Given the description of an element on the screen output the (x, y) to click on. 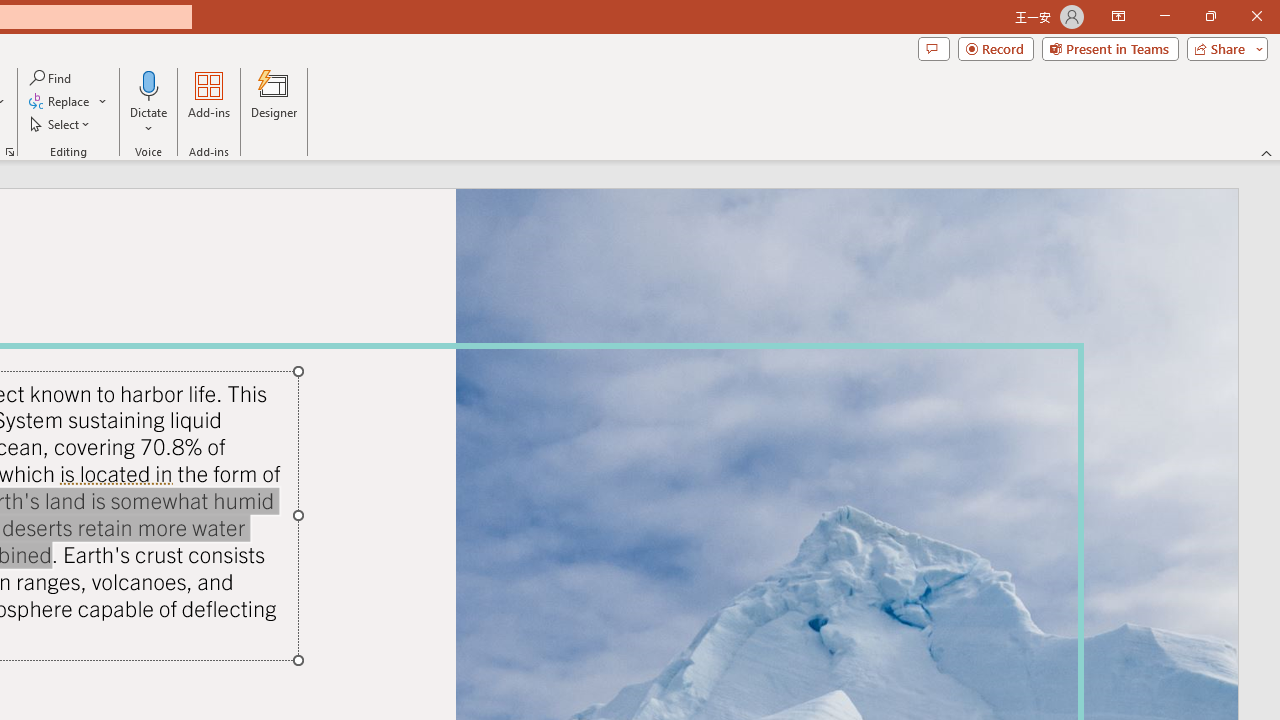
Select (61, 124)
Format Object... (9, 151)
